Given the description of an element on the screen output the (x, y) to click on. 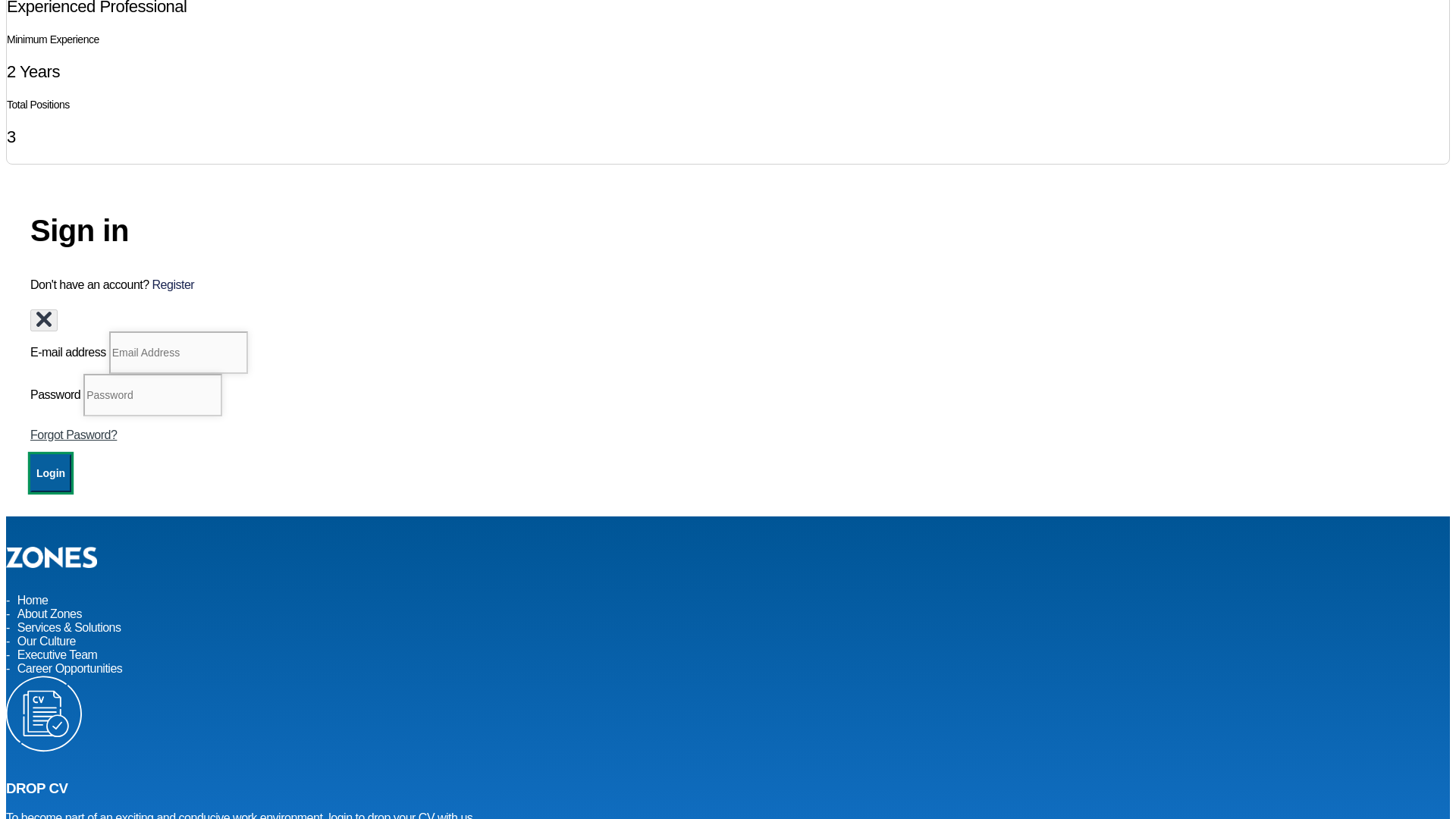
Home (32, 600)
Register (173, 284)
About Zones (49, 613)
Login (50, 473)
Our Culture (46, 641)
Forgot Pasword? (73, 434)
